Given the description of an element on the screen output the (x, y) to click on. 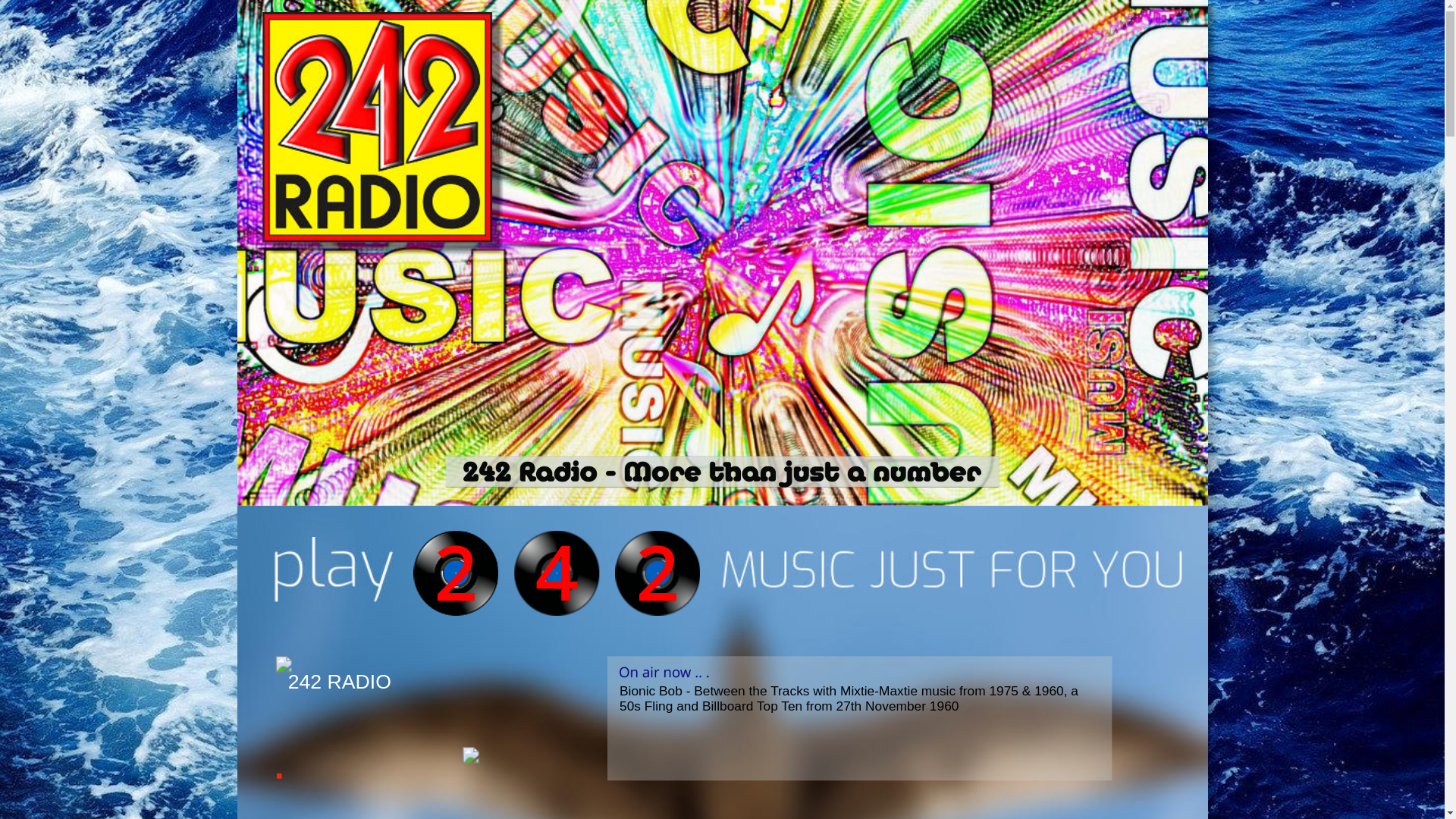
Free Radio Element type: hover (444, 562)
Coast to Coast Element type: hover (646, 562)
242 Radio Element type: hover (545, 562)
